Given the description of an element on the screen output the (x, y) to click on. 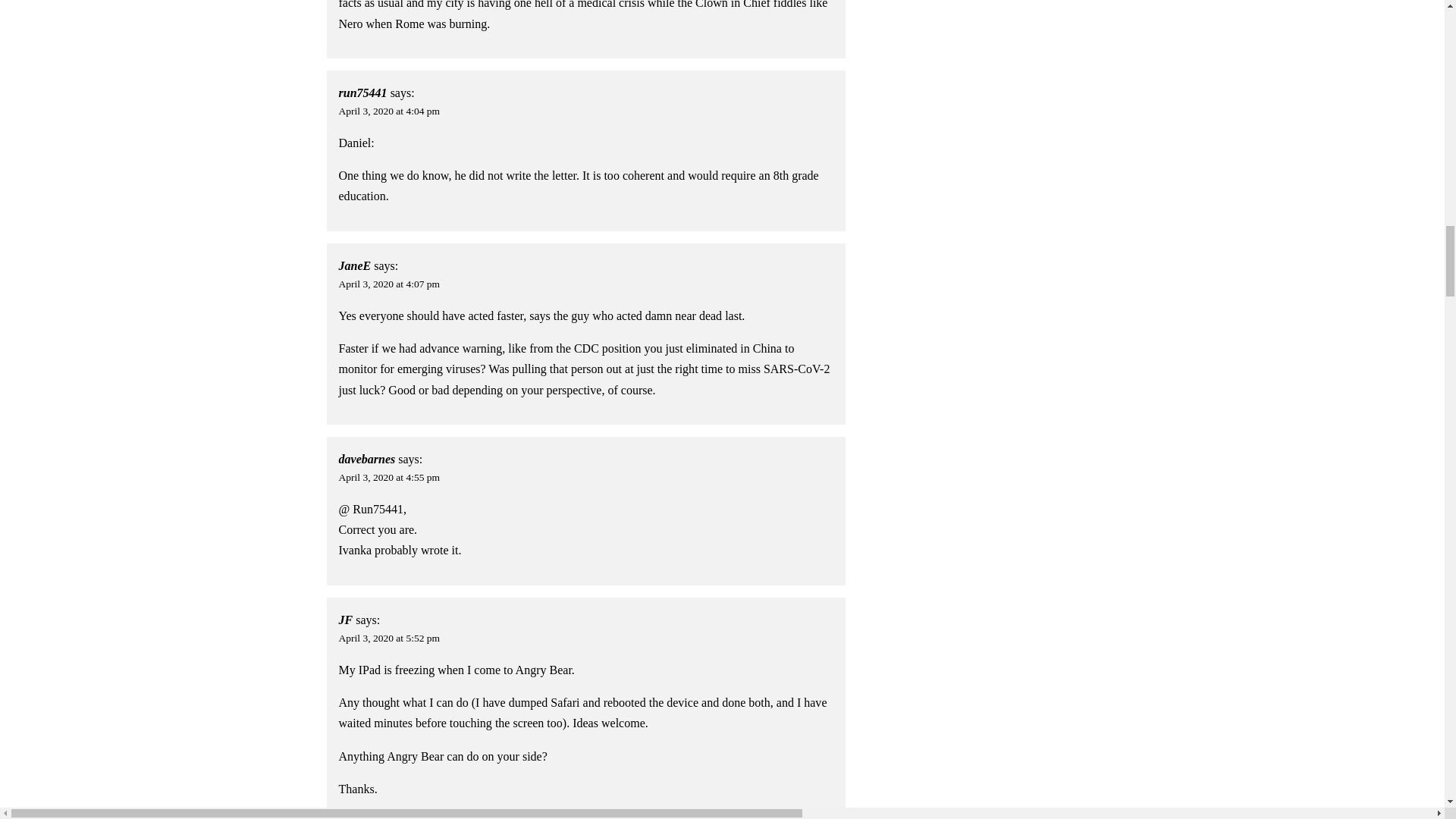
April 3, 2020 at 5:52 pm (390, 637)
April 3, 2020 at 4:07 pm (390, 283)
April 3, 2020 at 4:04 pm (390, 111)
April 3, 2020 at 4:55 pm (390, 477)
